Given the description of an element on the screen output the (x, y) to click on. 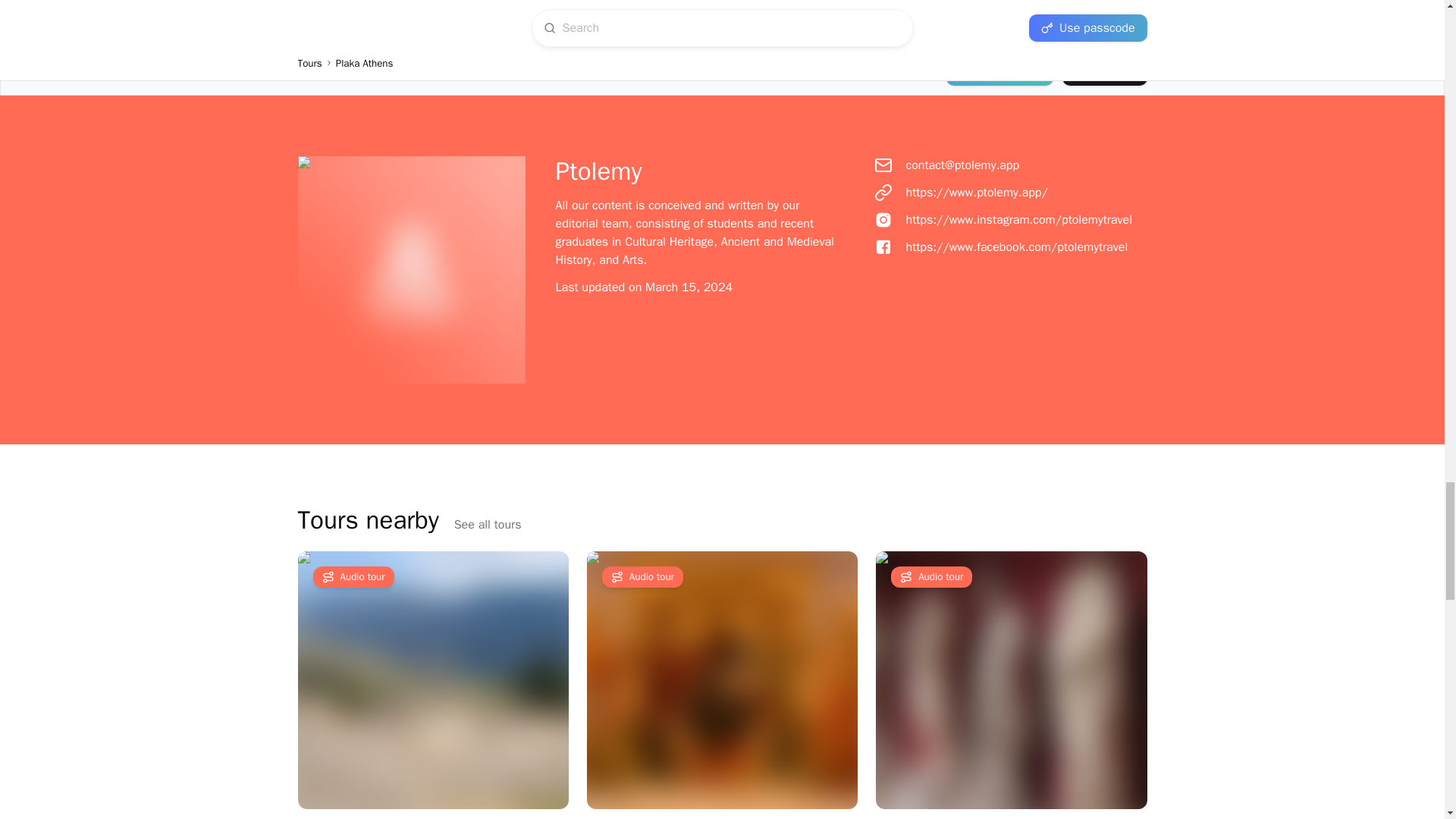
See all tours (487, 524)
